Given the description of an element on the screen output the (x, y) to click on. 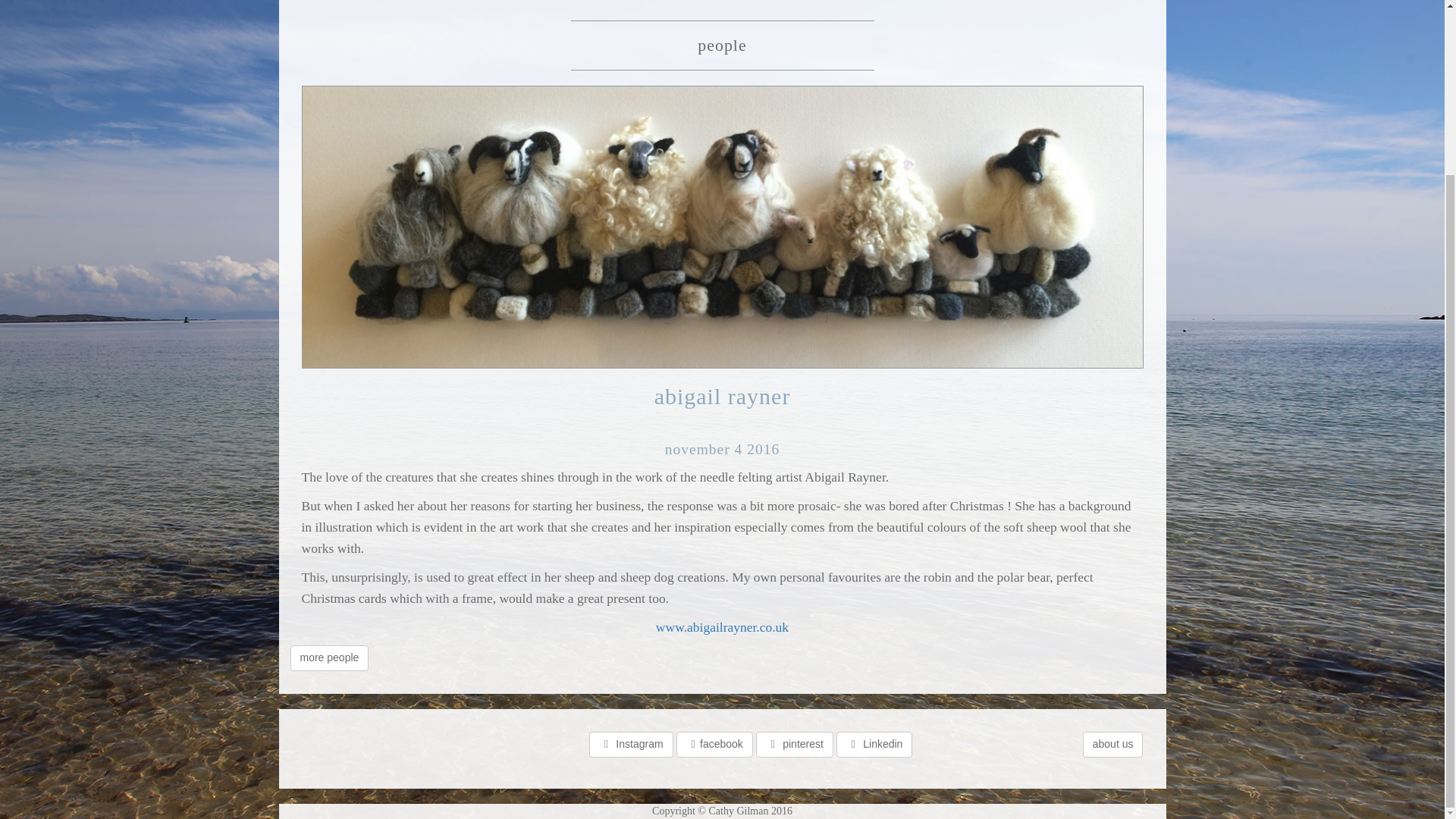
facebook (714, 744)
about us (1112, 744)
pinterest (793, 744)
Instagram (630, 744)
Linkedin (873, 744)
www.abigailrayner.co.uk (722, 626)
more people (328, 657)
